Given the description of an element on the screen output the (x, y) to click on. 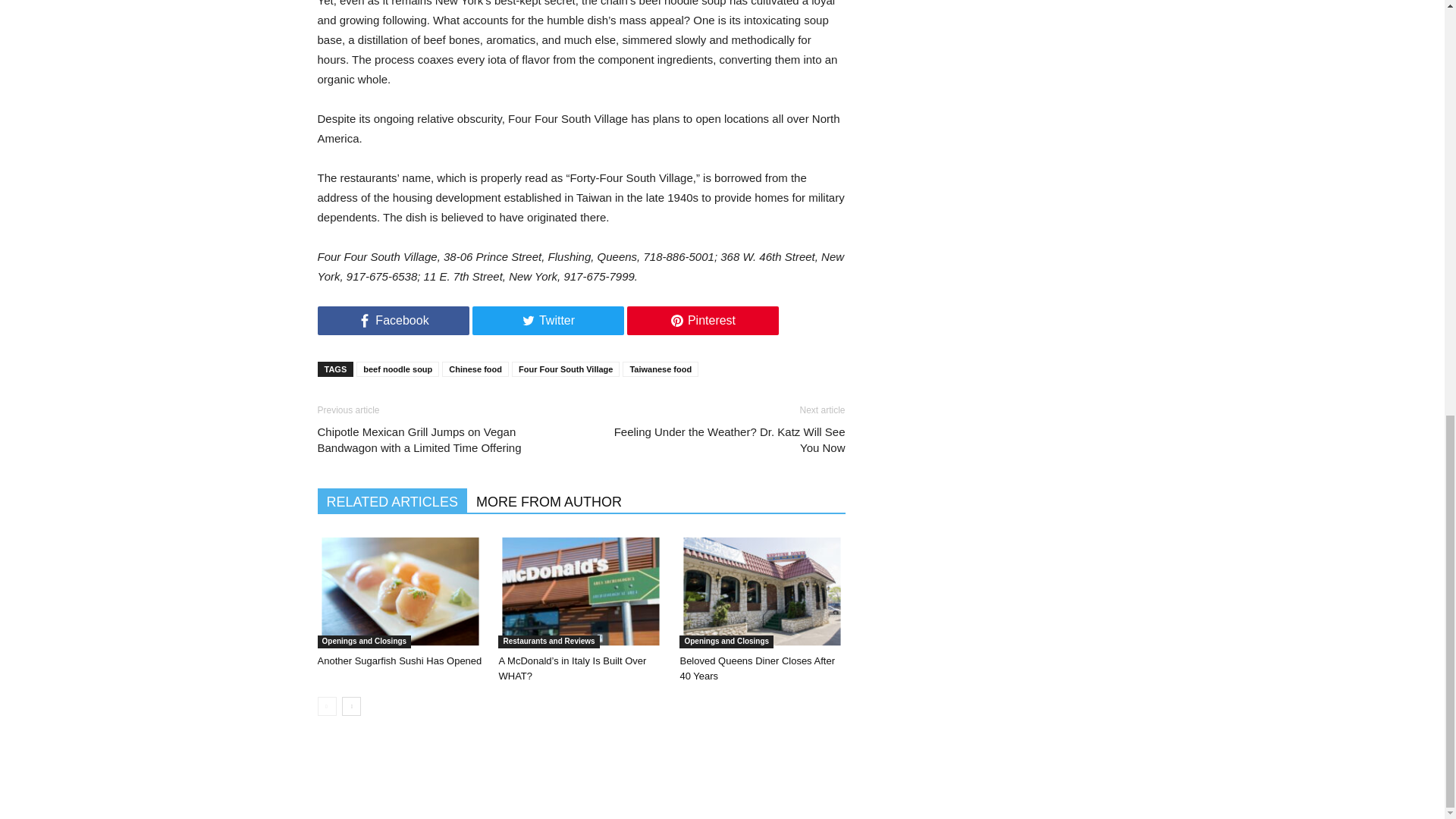
Four Four South Village (566, 368)
Another Sugarfish Sushi Has Opened (399, 660)
Beloved Queens Diner Closes After 40 Years (766, 594)
Chinese food (475, 368)
Beloved Queens Diner Closes After 40 Years (756, 668)
Taiwanese food (660, 368)
Facebook (392, 320)
Another Sugarfish Sushi Has Opened (403, 594)
beef noodle soup (397, 368)
Beloved Queens Diner Closes After 40 Years (761, 591)
